Given the description of an element on the screen output the (x, y) to click on. 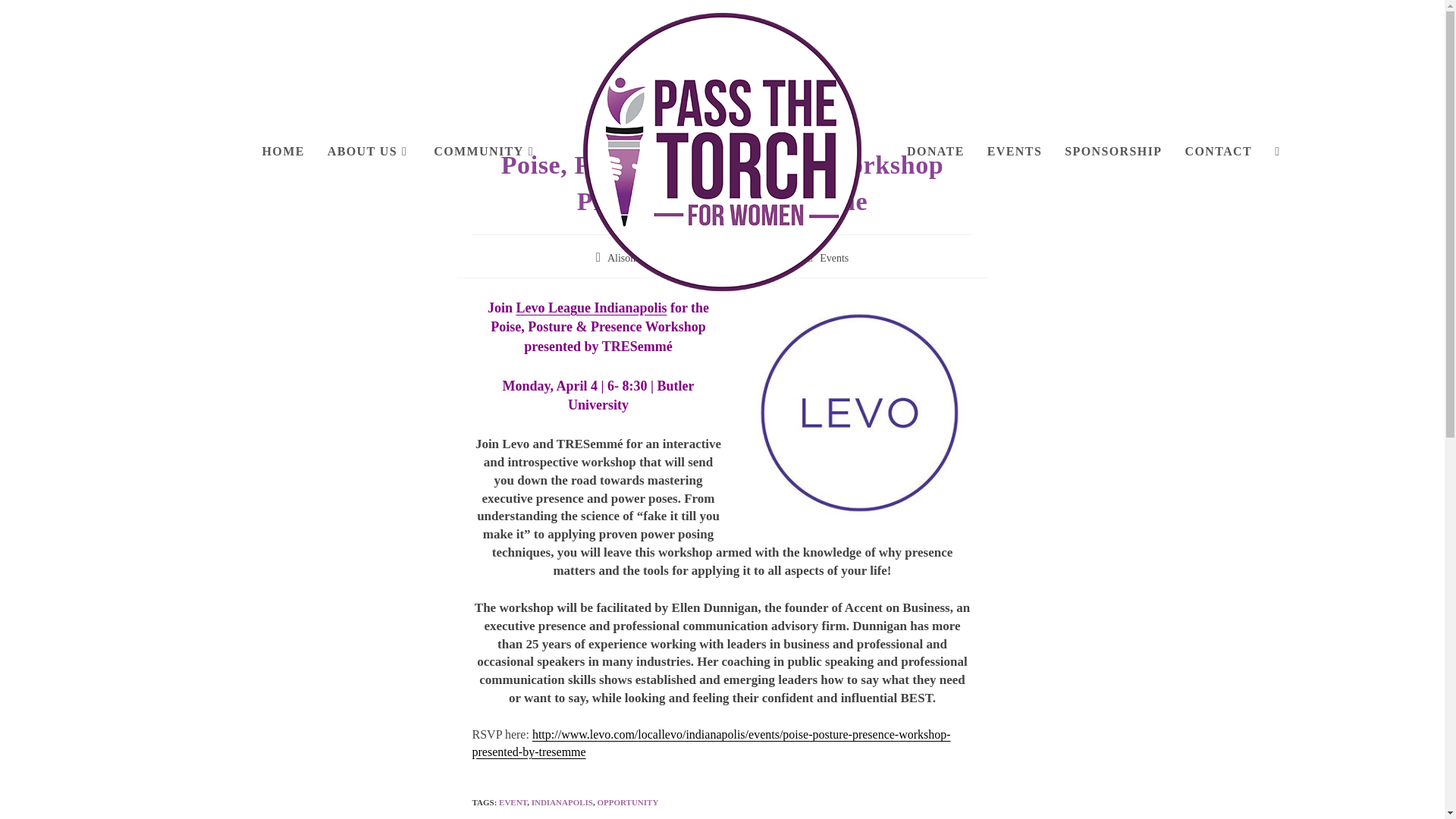
Posts by Alison Martin-Books (652, 257)
COMMUNITY (485, 151)
ABOUT US (369, 151)
DONATE (935, 151)
EVENTS (1013, 151)
SPONSORSHIP (1112, 151)
HOME (282, 151)
CONTACT (1218, 151)
